Given the description of an element on the screen output the (x, y) to click on. 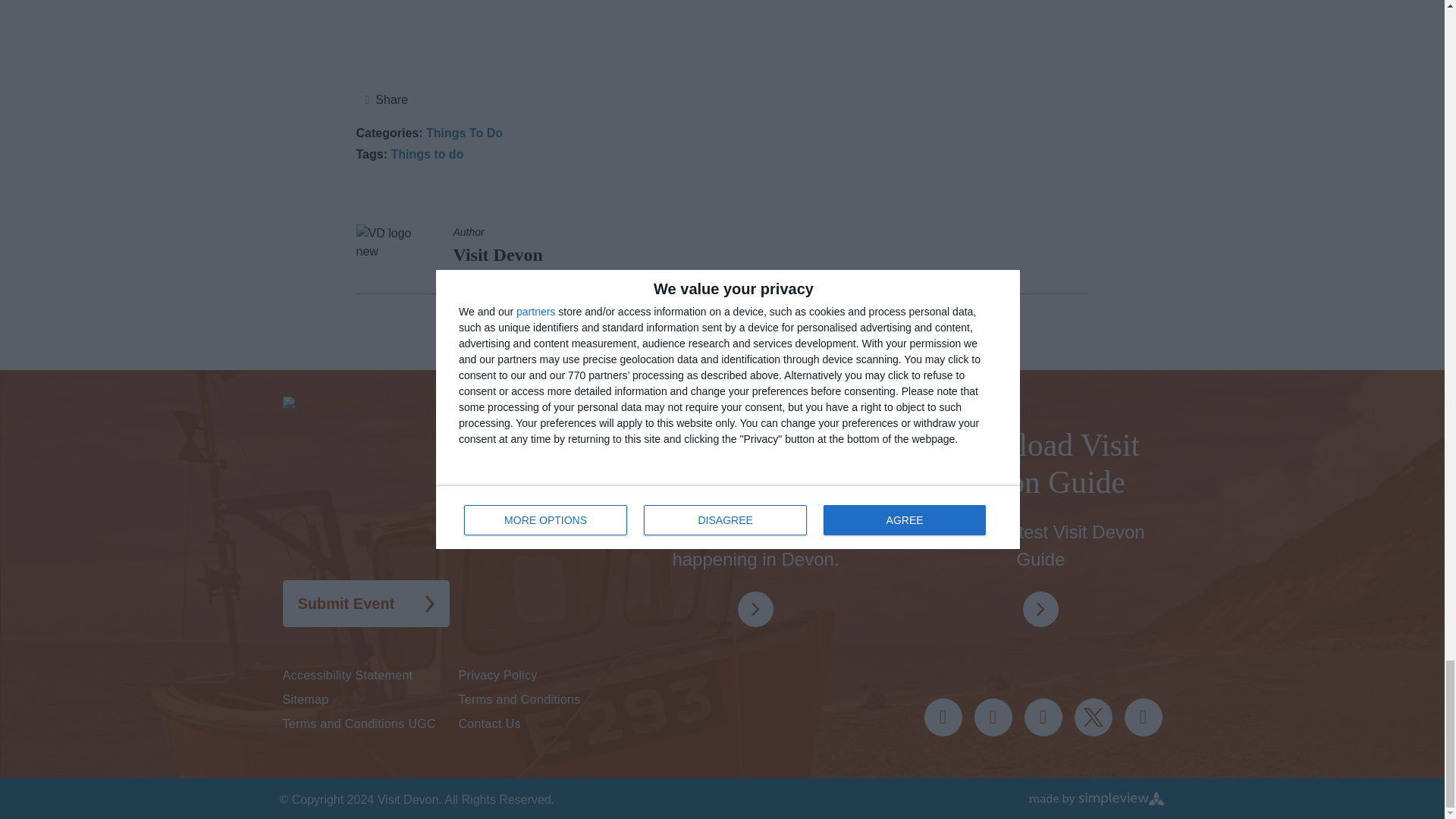
Terms and Conditions (545, 699)
Terms and Conditions UGC (370, 723)
Visit our youtube page (1142, 717)
Privacy Policy (545, 675)
Accessibility Statement (370, 675)
Contact Us (545, 723)
E-newsletter Sign up (754, 472)
Download Visit Devon Guide (1040, 609)
Visit our tiktok page (1042, 717)
Submit Event (365, 603)
Visit our twitter page (1093, 717)
E-newsletter Sign up (755, 609)
Visit our facebook page (992, 717)
Visit our instagram page (941, 717)
Sitemap (370, 699)
